Given the description of an element on the screen output the (x, y) to click on. 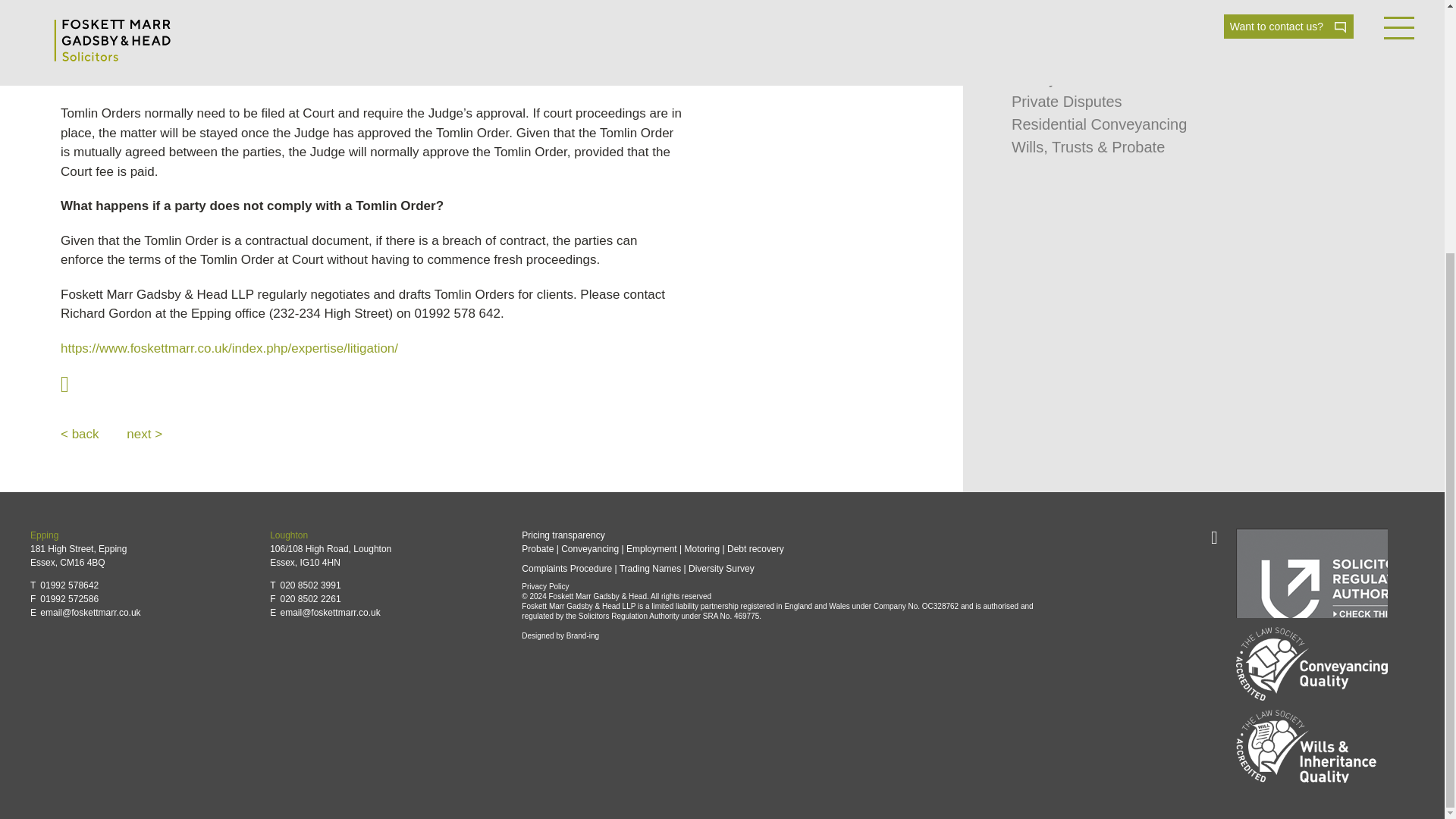
Residential Conveyancing (1098, 124)
Employment (1053, 13)
Epping (44, 534)
Family (1034, 78)
Private Disputes (1066, 101)
